Given the description of an element on the screen output the (x, y) to click on. 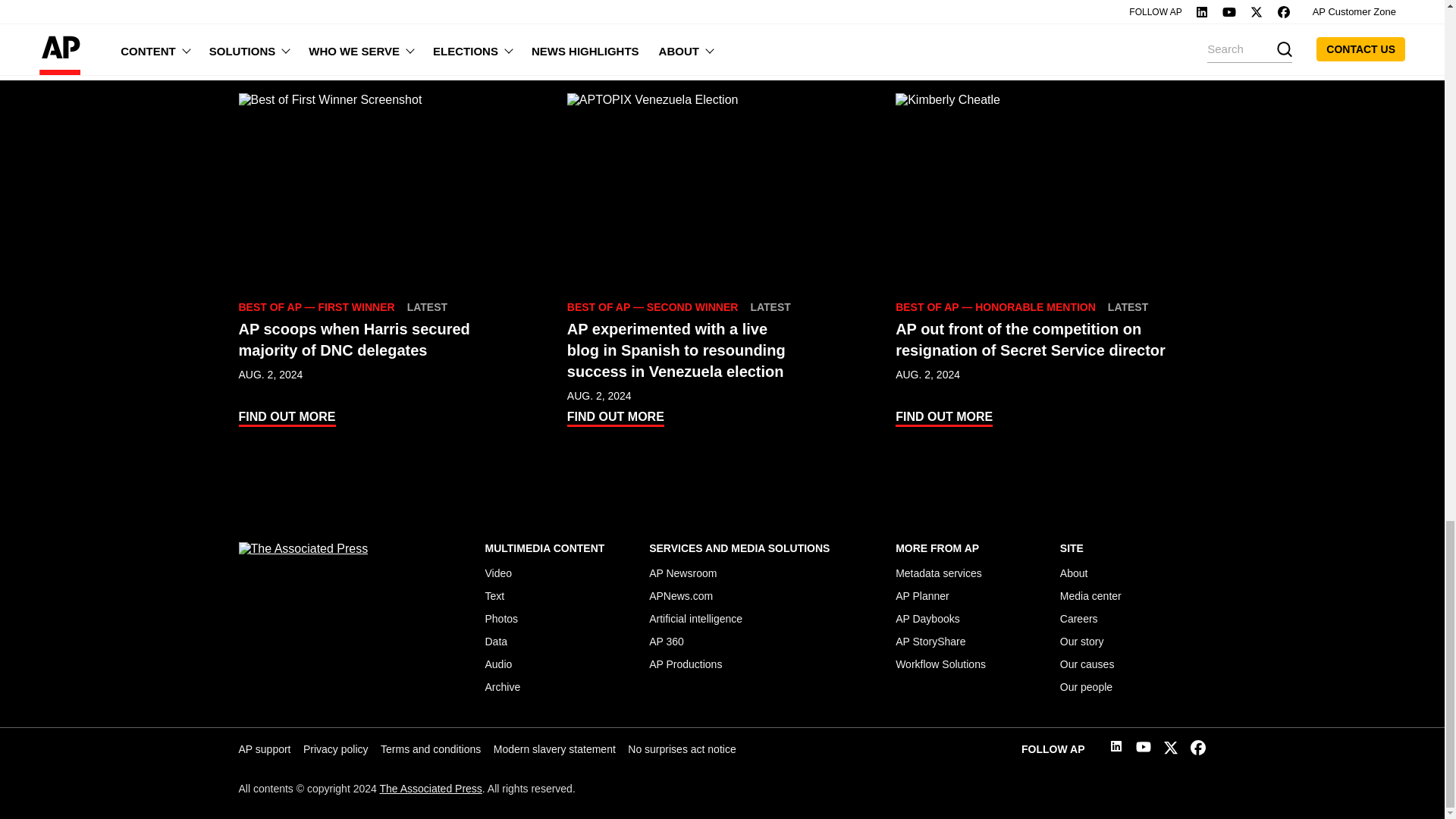
Youtube (1143, 748)
Twitter (1170, 750)
Linkedin (1116, 748)
